Given the description of an element on the screen output the (x, y) to click on. 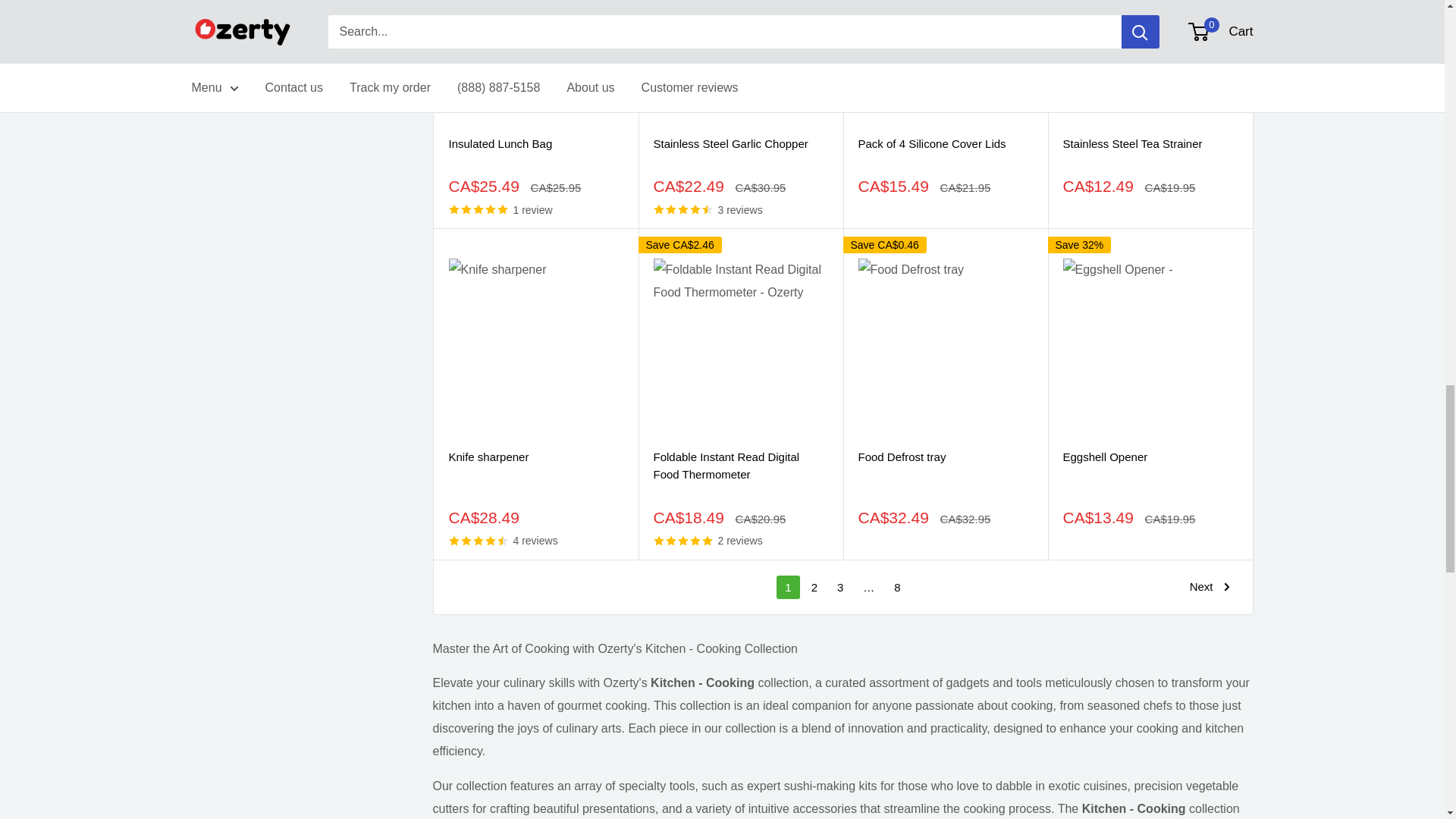
Navigate to page 2 (814, 586)
Next (1209, 586)
Navigate to page 8 (896, 586)
Navigate to page 3 (839, 586)
